Given the description of an element on the screen output the (x, y) to click on. 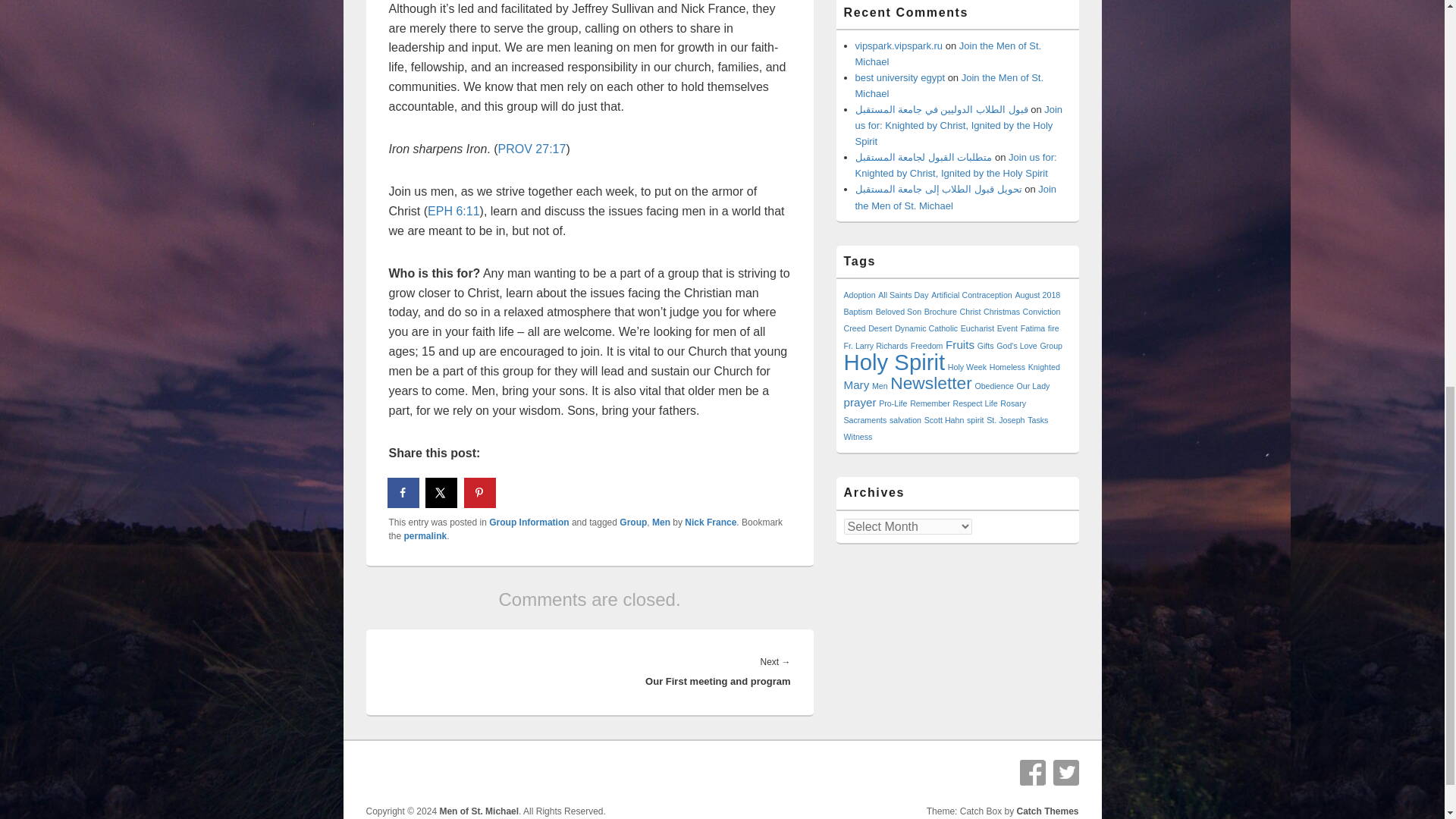
vipspark.vipspark.ru (899, 45)
Save to Pinterest (480, 492)
best university egypt (900, 77)
Ephesians 6:11 (453, 210)
Group Information (529, 521)
permalink (425, 535)
Join the Men of St. Michael (949, 85)
Nick France (710, 521)
Men (660, 521)
Proverbs 27 (531, 148)
